Given the description of an element on the screen output the (x, y) to click on. 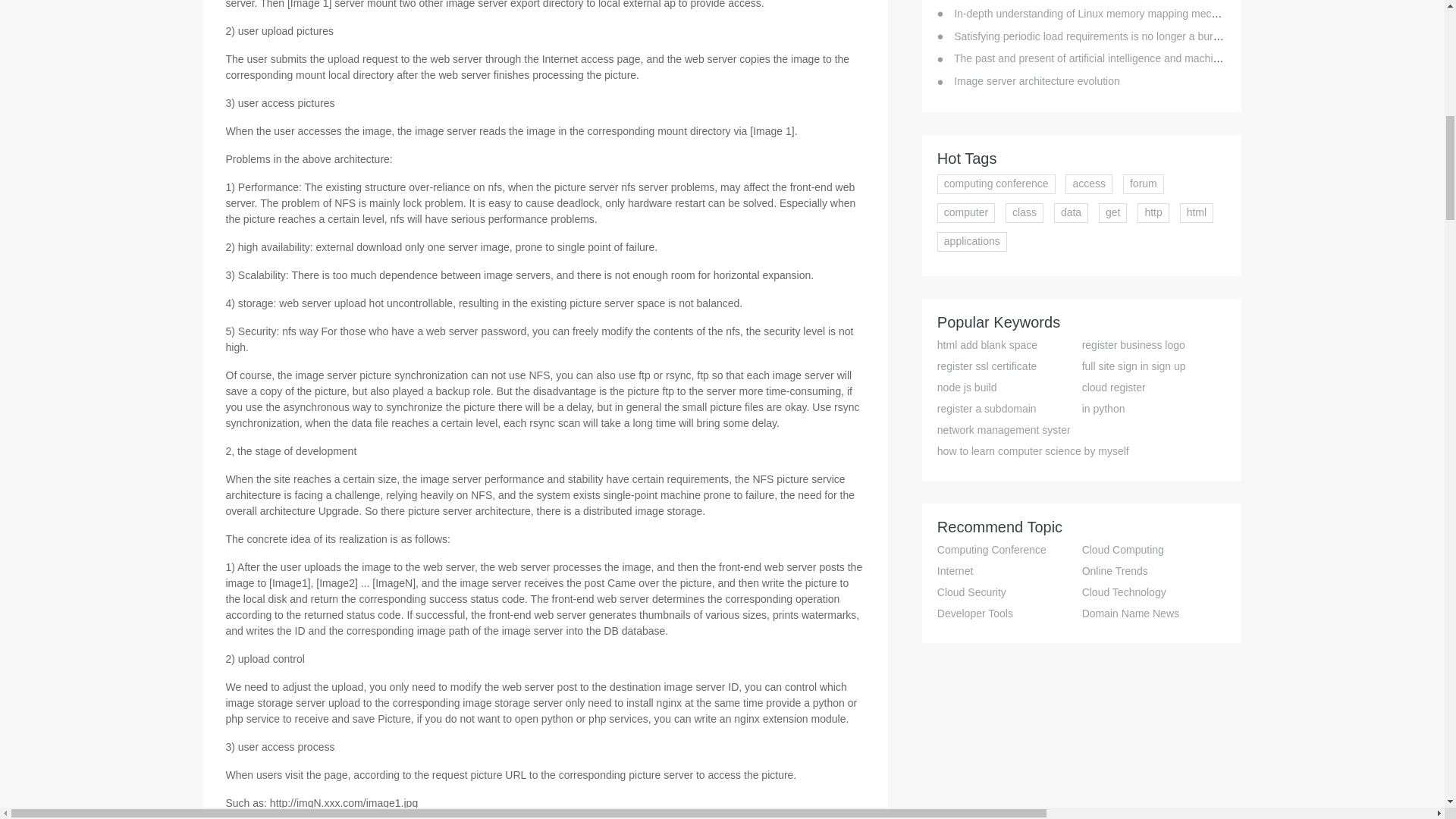
get (1112, 212)
forum (1142, 184)
data (1070, 212)
html (1195, 212)
class (1024, 212)
applications (972, 241)
Satisfying periodic load requirements is no longer a burden (1091, 36)
Image server architecture evolution (1036, 80)
In-depth understanding of Linux memory mapping mechanism (1098, 13)
computer (965, 212)
http (1153, 212)
access (1088, 184)
computing conference (996, 184)
